Given the description of an element on the screen output the (x, y) to click on. 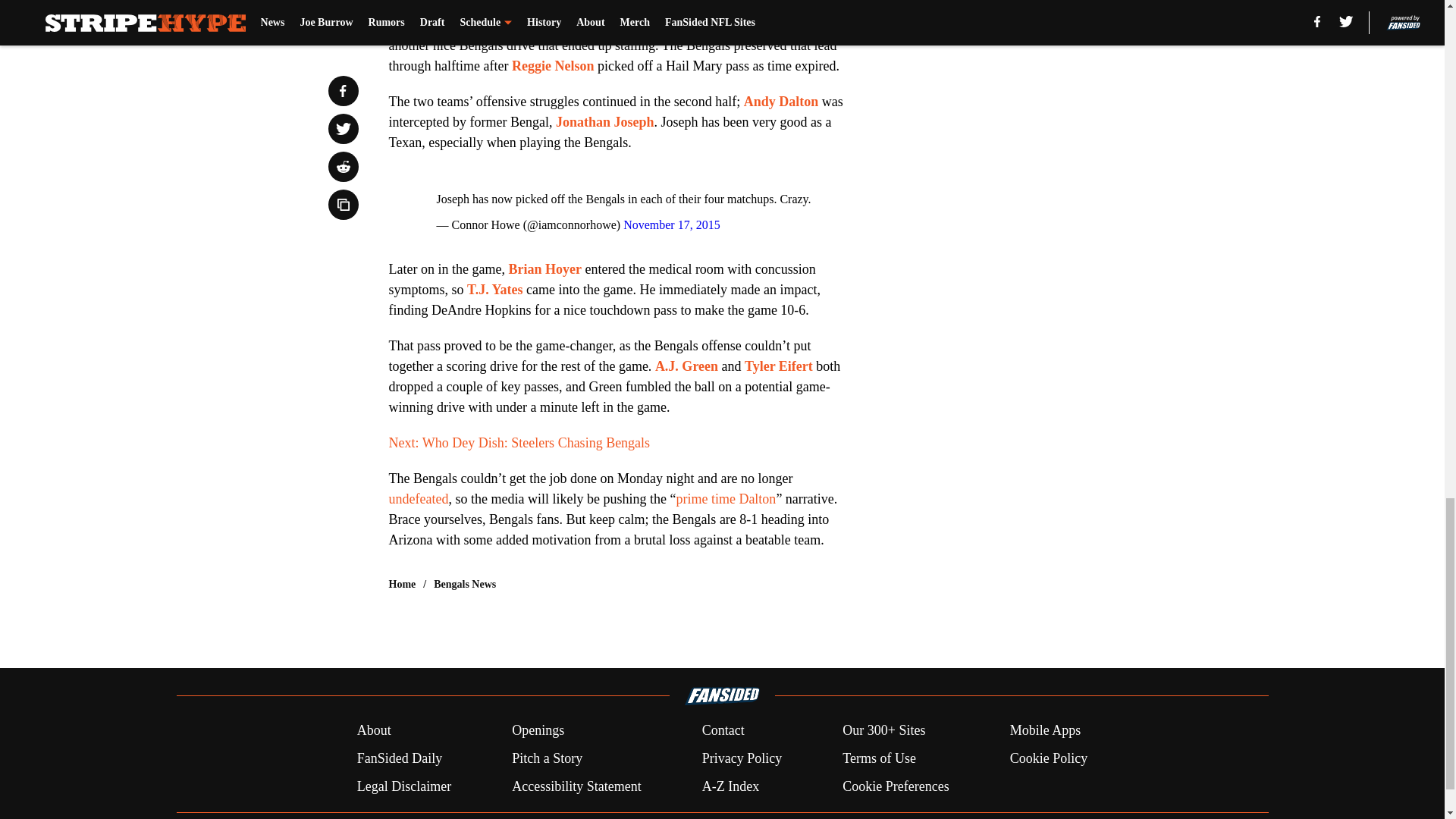
prime time Dalton (725, 498)
Contact (722, 730)
Tyler Eifert (778, 365)
Jonathan Joseph (604, 121)
Next: Who Dey Dish: Steelers Chasing Bengals (518, 442)
Andy Dalton (781, 101)
Reggie Nelson (553, 65)
Home (401, 584)
Bengals News (464, 584)
undefeated (418, 498)
November 17, 2015 (671, 224)
Mike Nugent (426, 24)
T.J. Yates (494, 289)
Openings (538, 730)
About (373, 730)
